Given the description of an element on the screen output the (x, y) to click on. 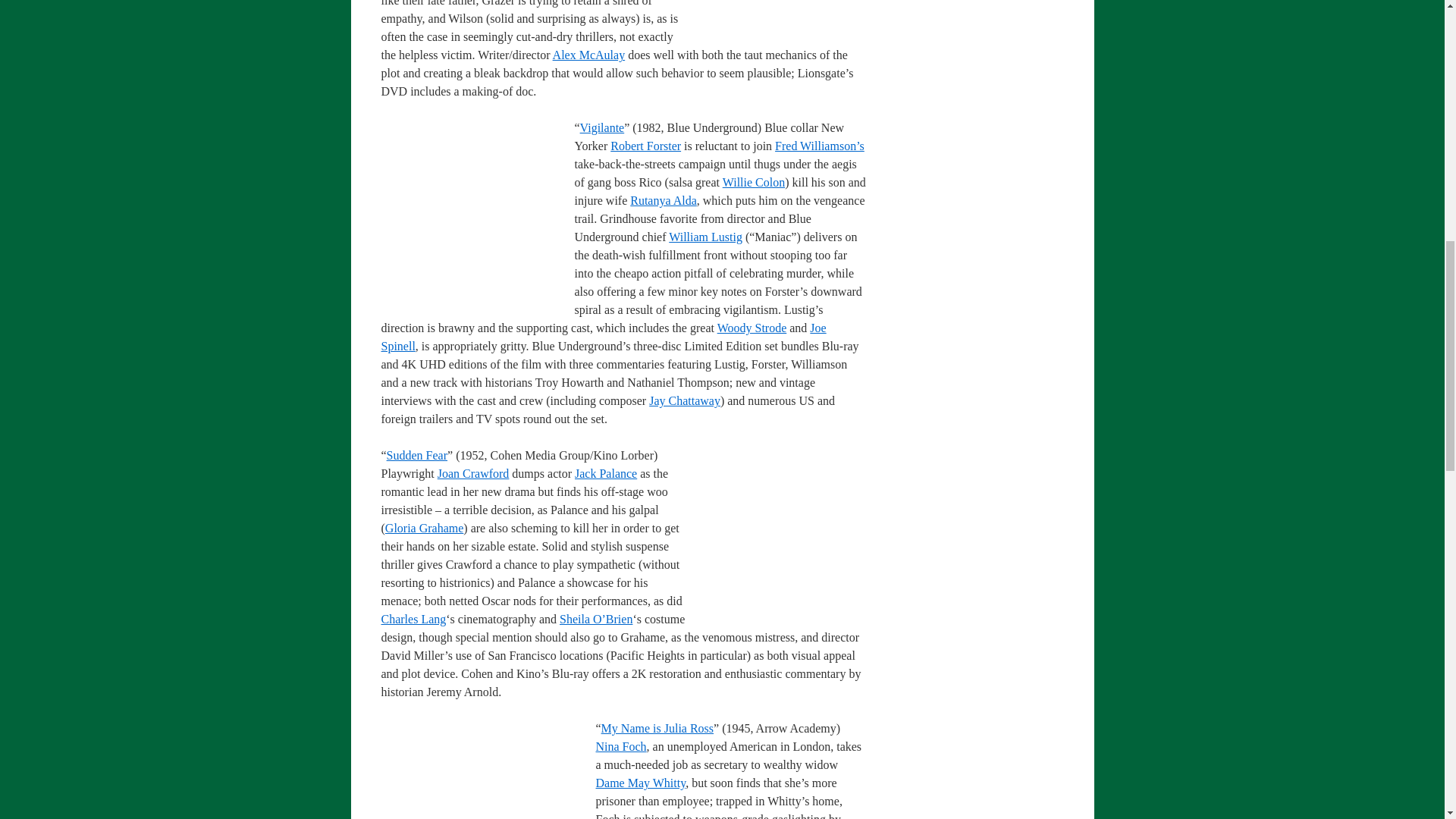
Rutanya Alda (663, 200)
William Lustig (705, 236)
Sudden Fear (416, 454)
Willie Colon (753, 182)
Vigilante (601, 127)
Alex McAulay (589, 54)
Joan Crawford (473, 472)
Jay Chattaway (684, 400)
Robert Forster (645, 145)
Woody Strode (752, 327)
Gloria Grahame (424, 527)
Charles Lang (412, 618)
Joe Spinell (602, 336)
Jack Palance (606, 472)
